Given the description of an element on the screen output the (x, y) to click on. 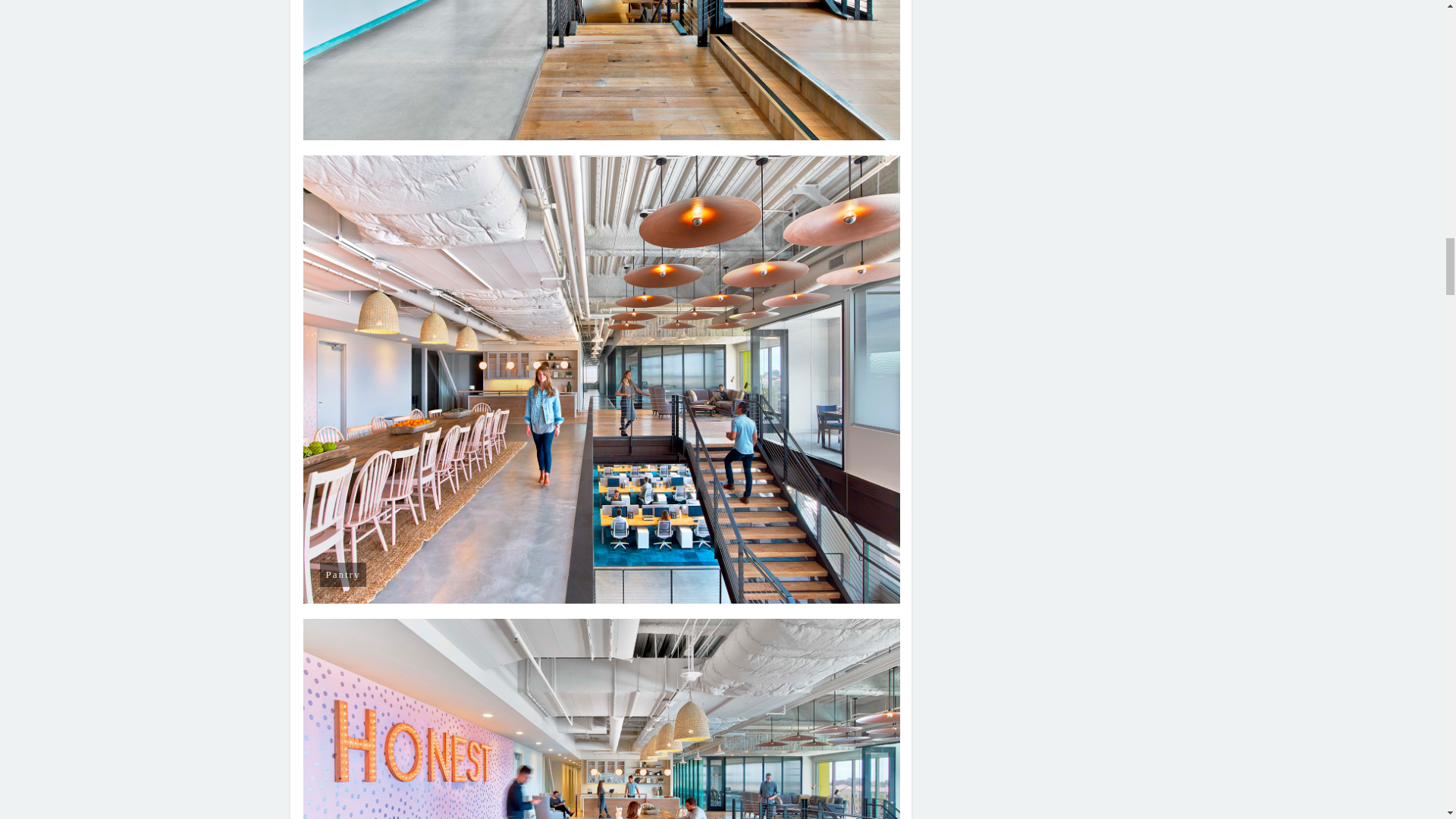
Pantry (601, 719)
